Given the description of an element on the screen output the (x, y) to click on. 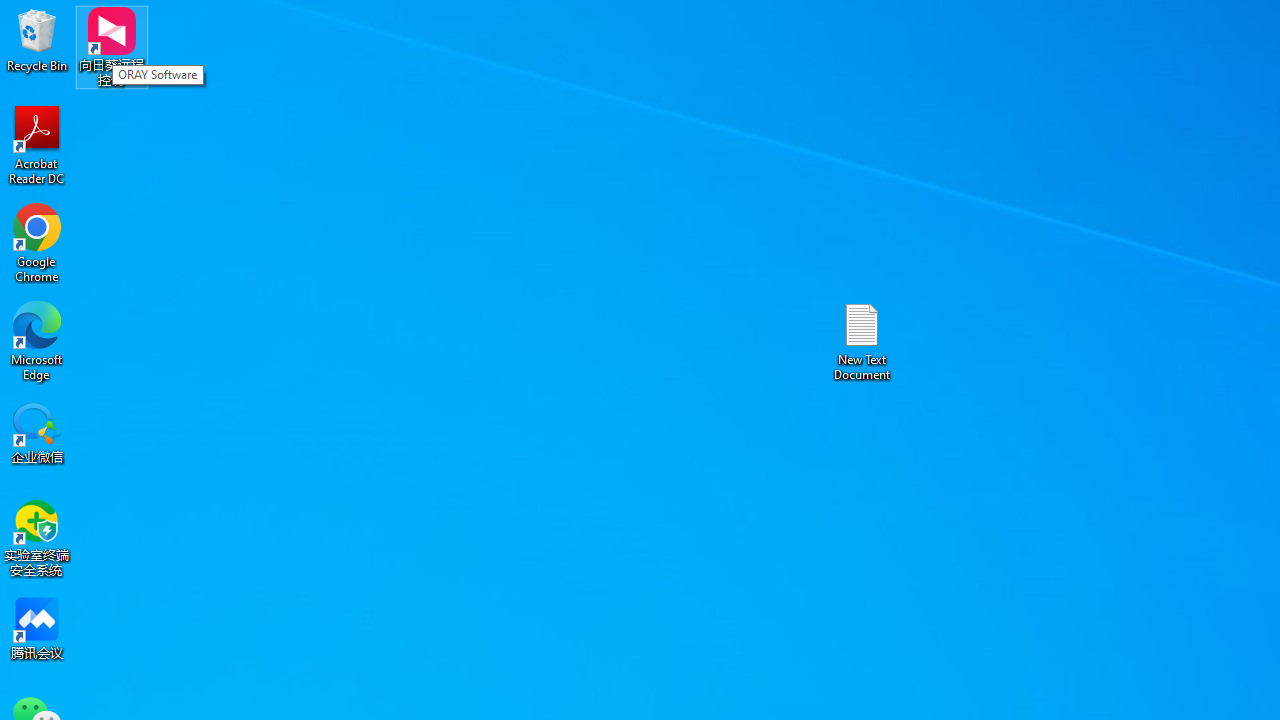
Recycle Bin (37, 39)
New Text Document (861, 340)
Google Chrome (37, 242)
Acrobat Reader DC (37, 144)
Microsoft Edge (37, 340)
